Given the description of an element on the screen output the (x, y) to click on. 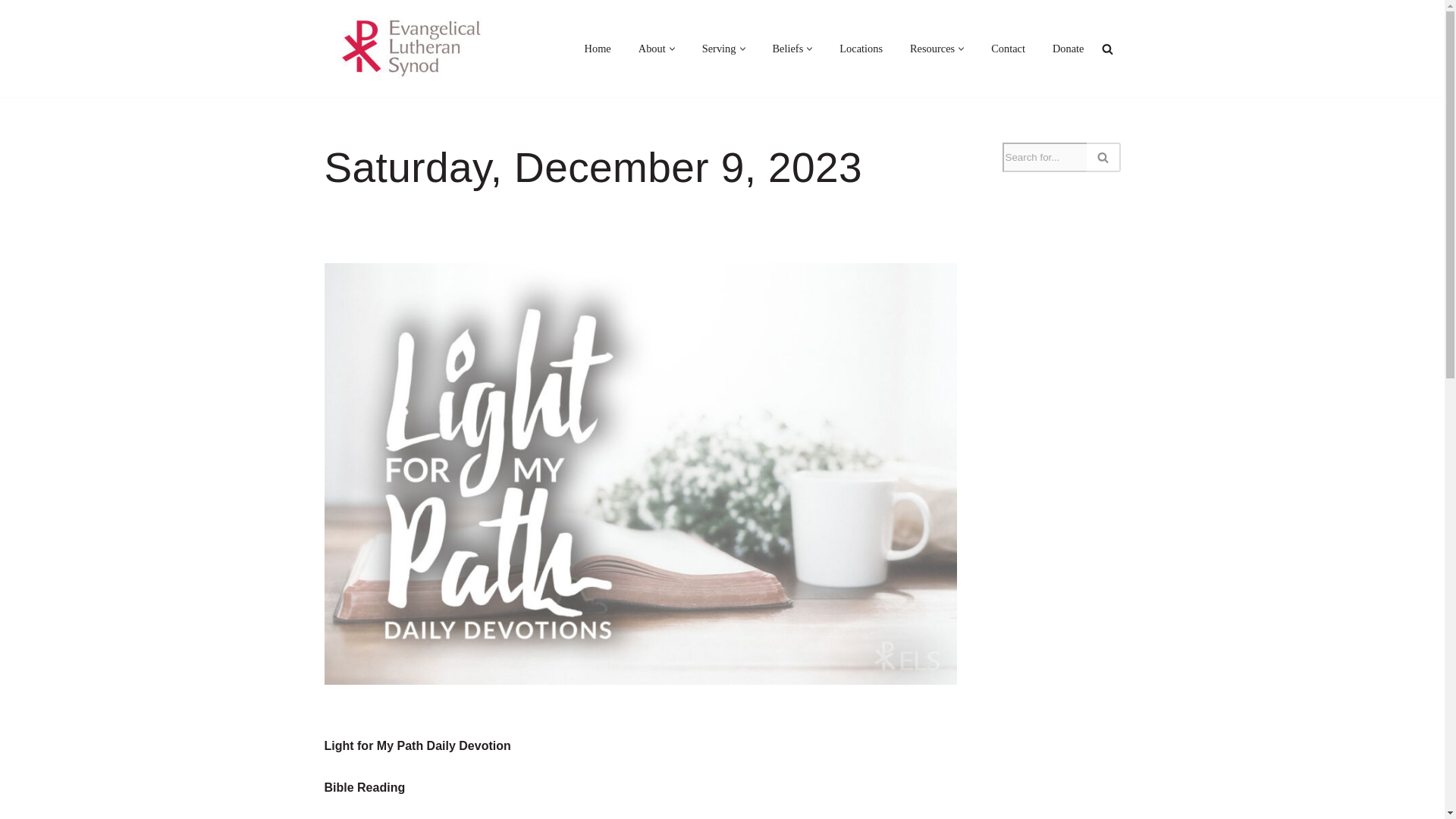
Resources (932, 48)
Skip to content (11, 31)
Serving (718, 48)
Beliefs (787, 48)
Home (598, 48)
Locations (861, 48)
About (652, 48)
